Given the description of an element on the screen output the (x, y) to click on. 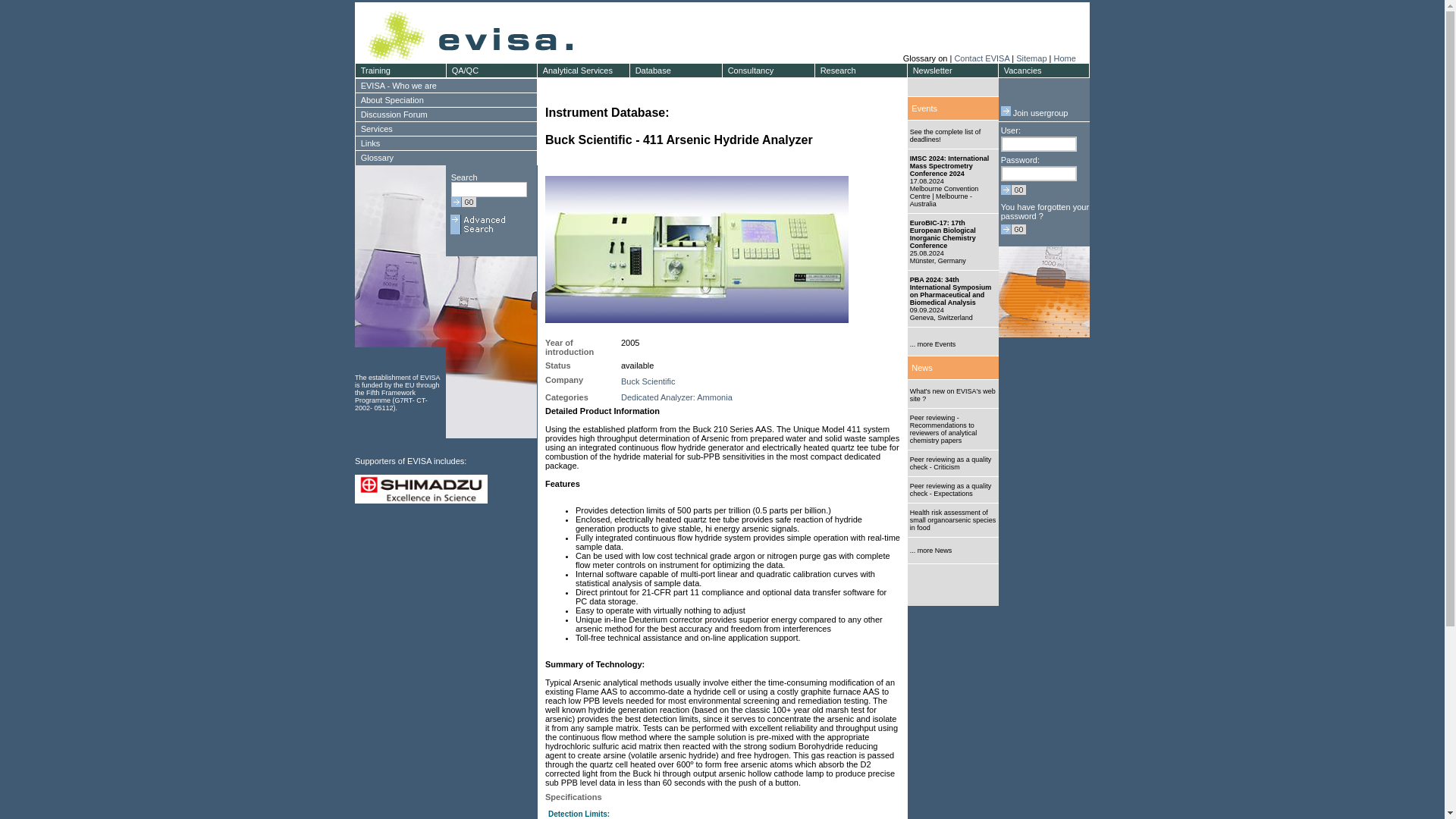
Glossary on (926, 58)
IMSC 2024: International Mass Spectrometry Conference 2024 (950, 165)
Contact EVISA (981, 58)
Dedicated Analyzer: Ammonia (676, 397)
Events (924, 108)
Sitemap (1031, 58)
Home (1063, 58)
go (463, 202)
See the complete list of deadlines! (945, 135)
Buck Scientific (648, 380)
